Given the description of an element on the screen output the (x, y) to click on. 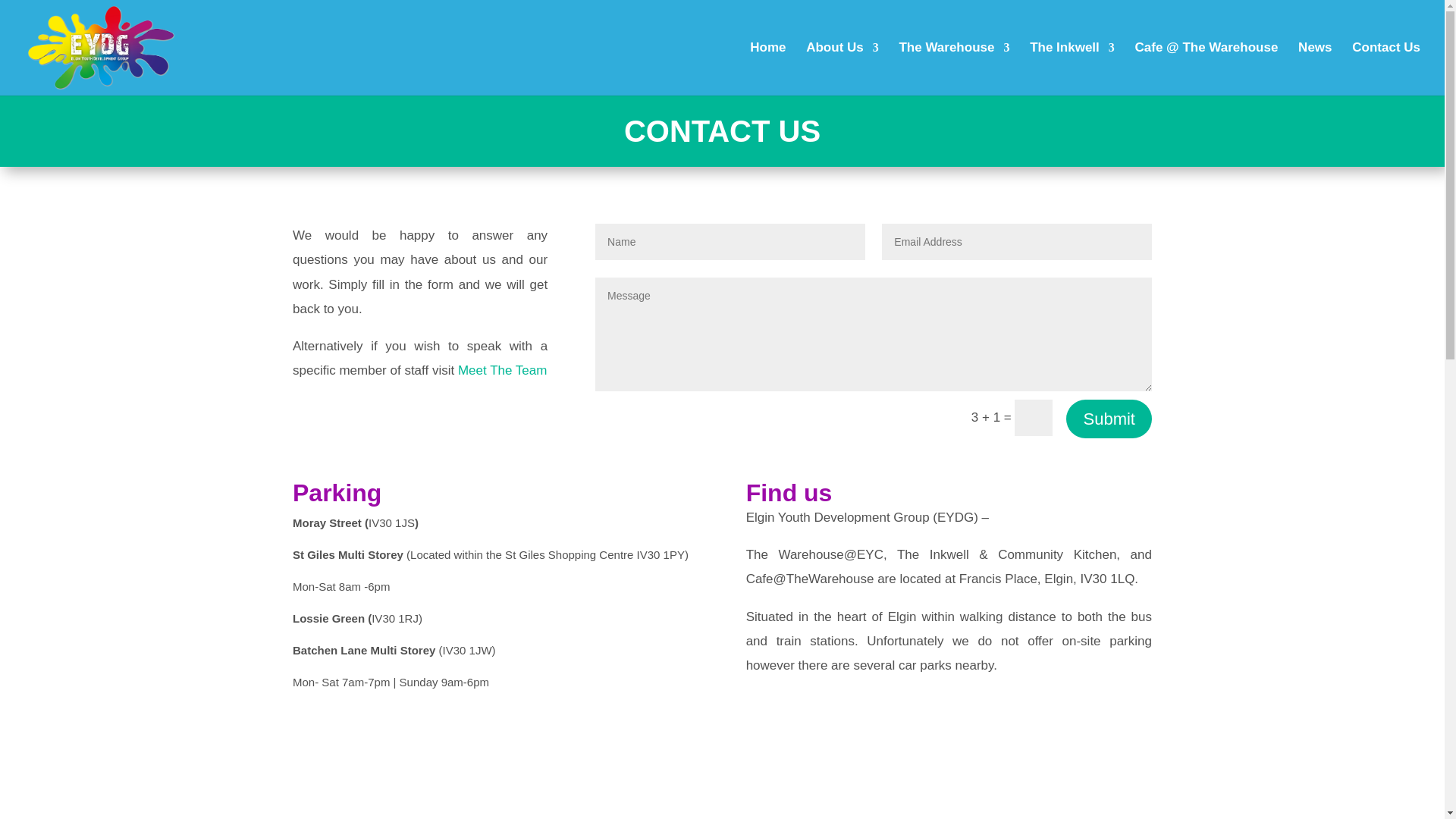
Meet The Team (502, 370)
Submit (1108, 418)
The Inkwell (1072, 64)
News (1315, 64)
Contact Us (1386, 64)
The Warehouse (953, 64)
About Us (842, 64)
Home (767, 64)
